Given the description of an element on the screen output the (x, y) to click on. 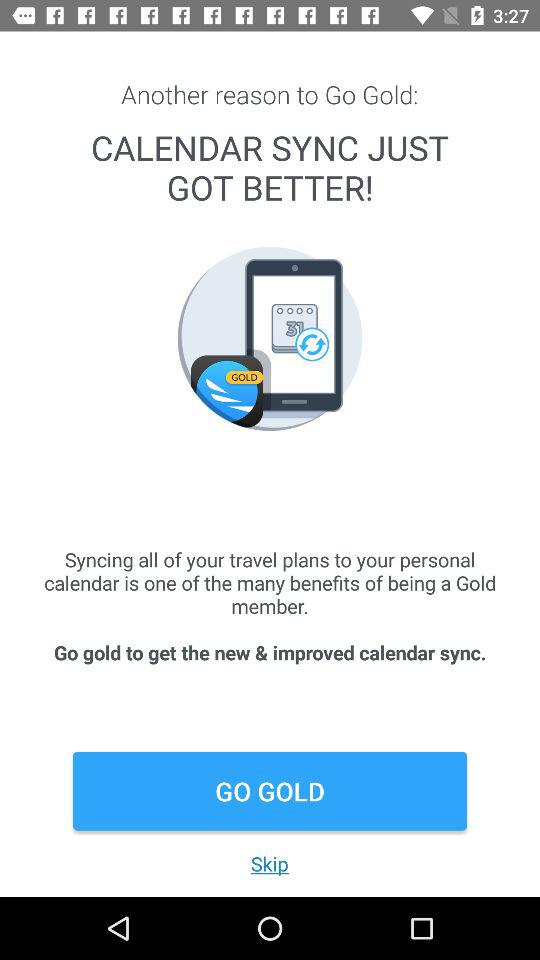
flip to the skip icon (269, 863)
